Given the description of an element on the screen output the (x, y) to click on. 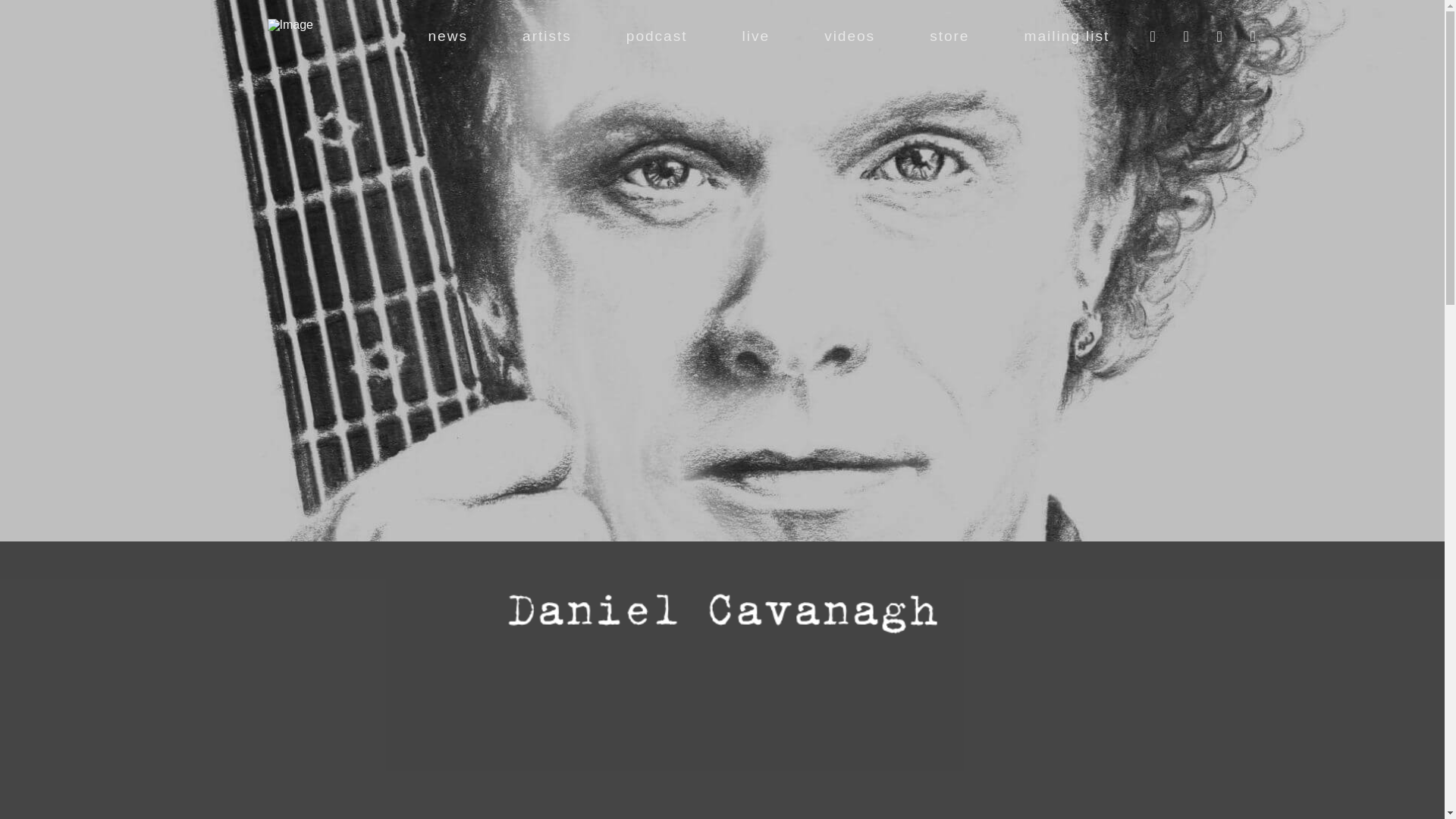
videos (848, 36)
store (948, 36)
podcast (656, 36)
live (755, 36)
artists (546, 36)
mailing list (1066, 36)
news (447, 36)
